Given the description of an element on the screen output the (x, y) to click on. 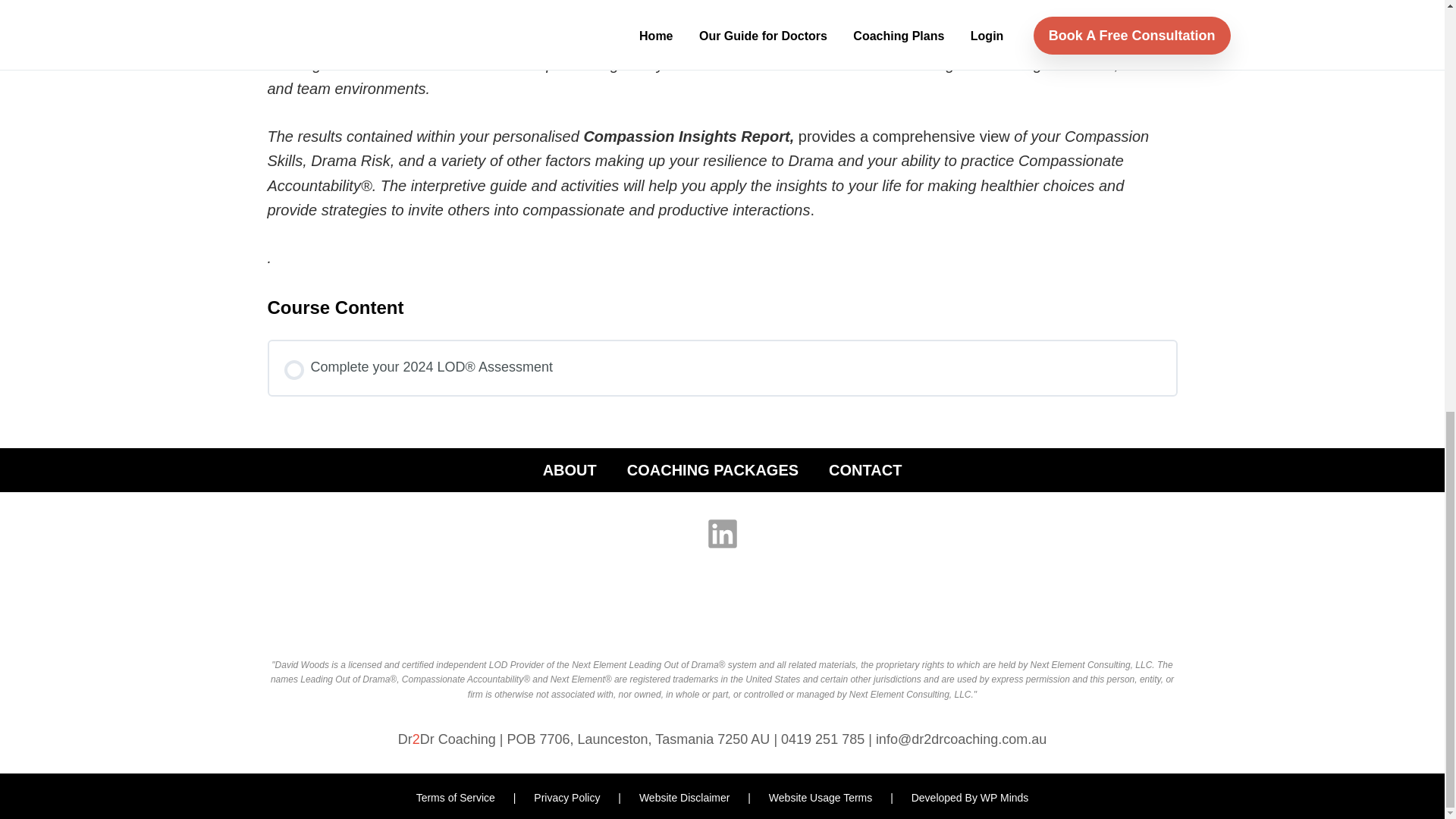
Website Usage Terms (820, 797)
ABOUT (569, 469)
Website Disclaimer (685, 797)
POB 7706, Launceston, Tasmania 7250 AU (639, 739)
CONTACT (864, 469)
0419 251 785 (823, 739)
Privacy Policy (568, 797)
LINKEDIN (722, 533)
Developed By WP Minds (970, 797)
Terms of Service (456, 797)
Dr2Dr Coaching (446, 739)
COACHING PACKAGES (712, 469)
